Given the description of an element on the screen output the (x, y) to click on. 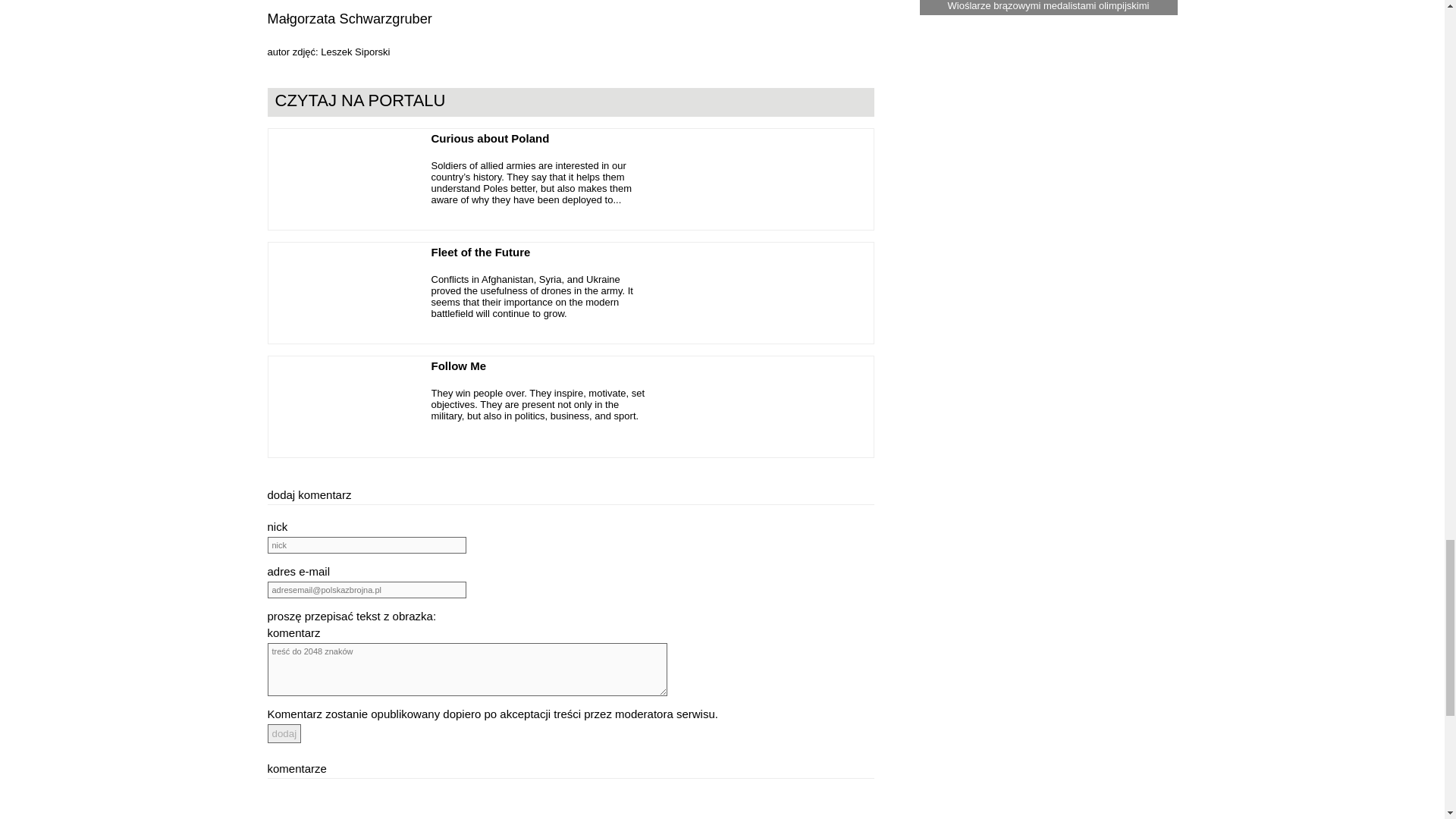
dodaj (283, 732)
